Given the description of an element on the screen output the (x, y) to click on. 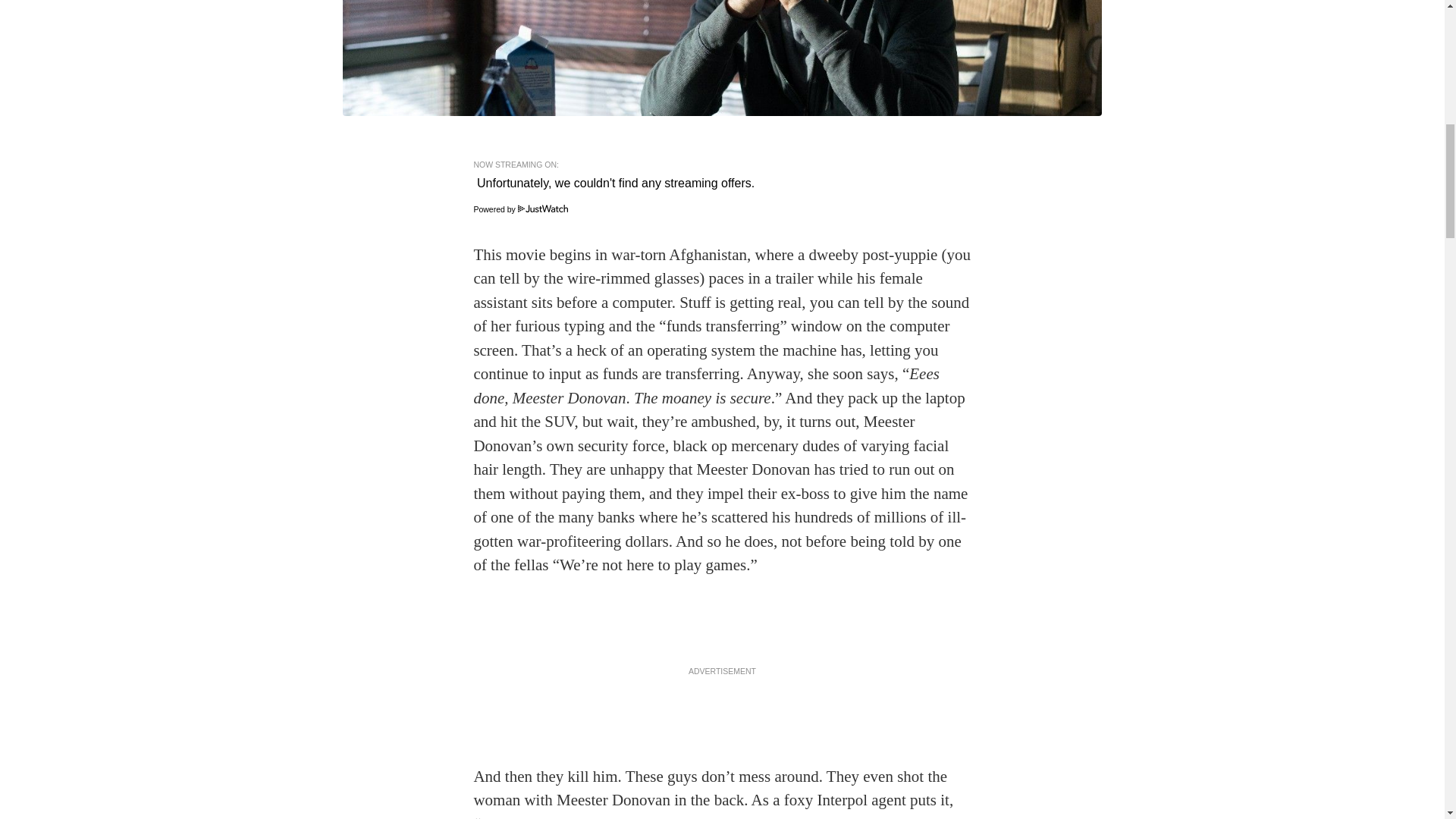
Powered by JustWatch (520, 208)
